Given the description of an element on the screen output the (x, y) to click on. 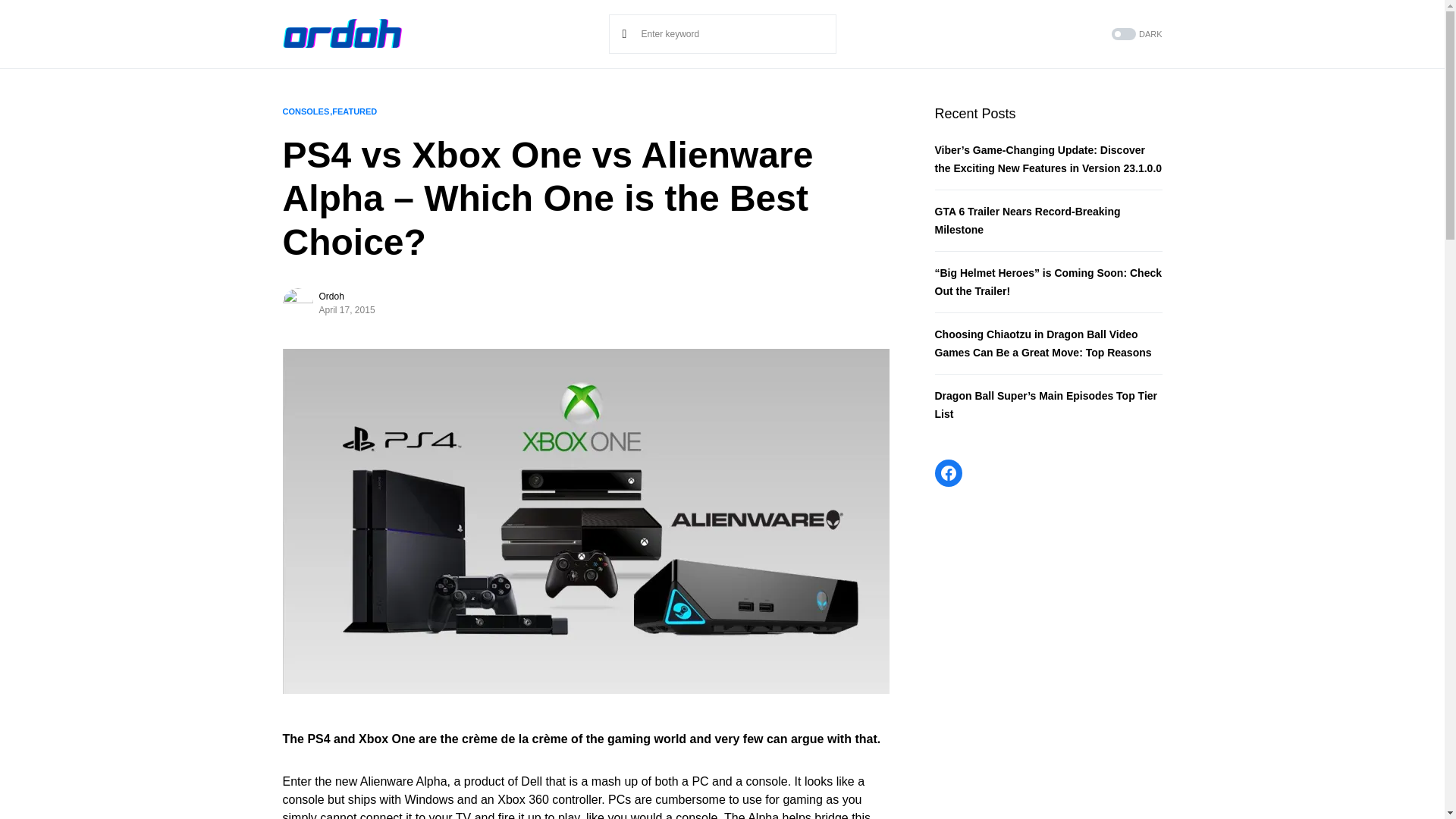
Ordoh (330, 296)
FEATURED (354, 111)
CONSOLES (305, 111)
